Given the description of an element on the screen output the (x, y) to click on. 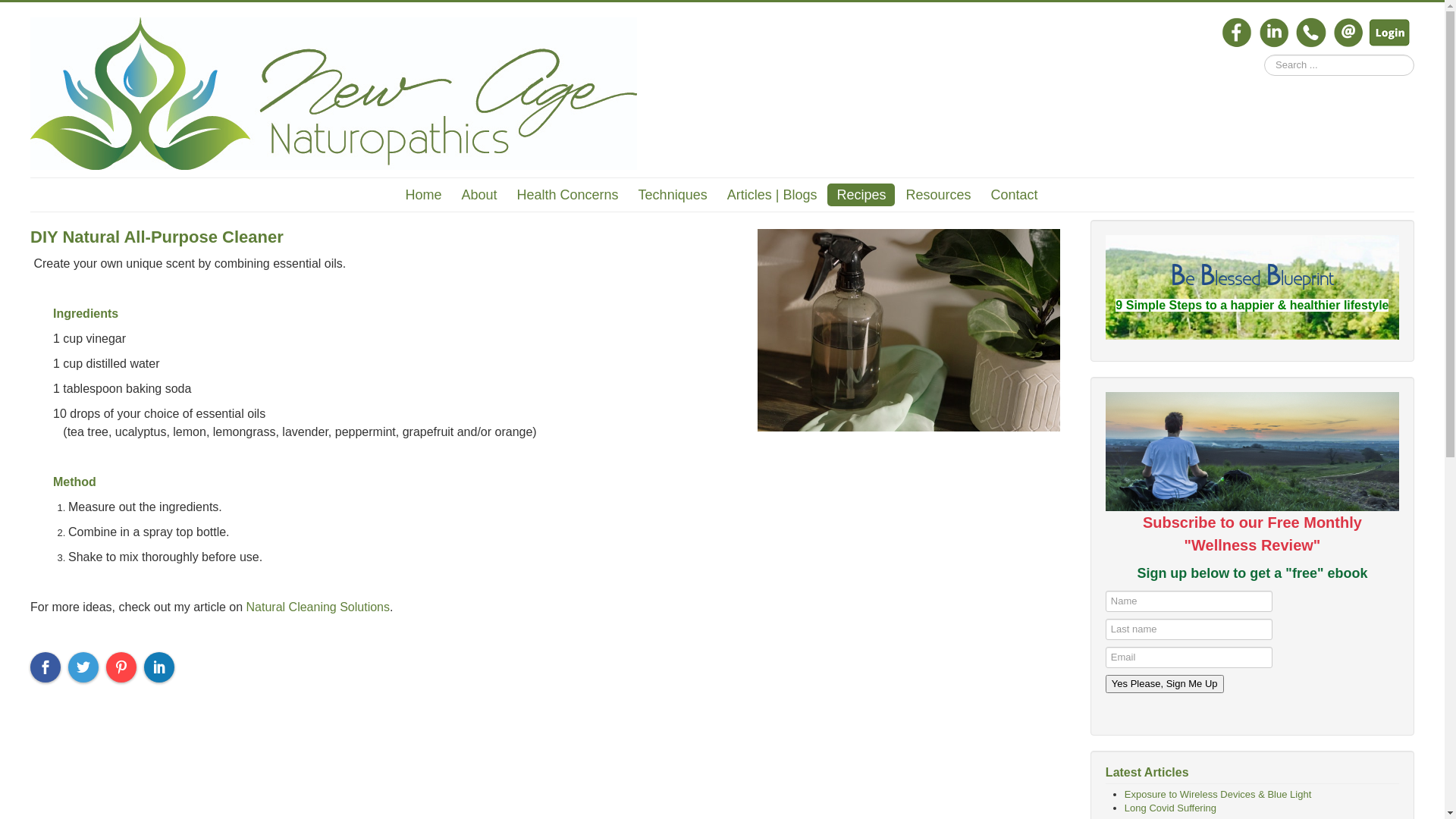
Yes Please, Sign Me Up Element type: text (1164, 683)
Contact Element type: text (1013, 194)
Articles | Blogs Element type: text (772, 194)
Home Element type: text (422, 194)
Long Covid Suffering Element type: text (1170, 807)
Be Blessed Blueprint Element type: text (1251, 279)
Natural Cleaning Solutions Element type: text (317, 606)
Resources Element type: text (937, 194)
Techniques Element type: text (672, 194)
About Element type: text (478, 194)
Exposure to Wireless Devices & Blue Light Element type: text (1217, 794)
Recipes Element type: text (860, 194)
DIY Natural All-Purpose Cleaner Element type: text (156, 236)
Health Concerns Element type: text (567, 194)
